Given the description of an element on the screen output the (x, y) to click on. 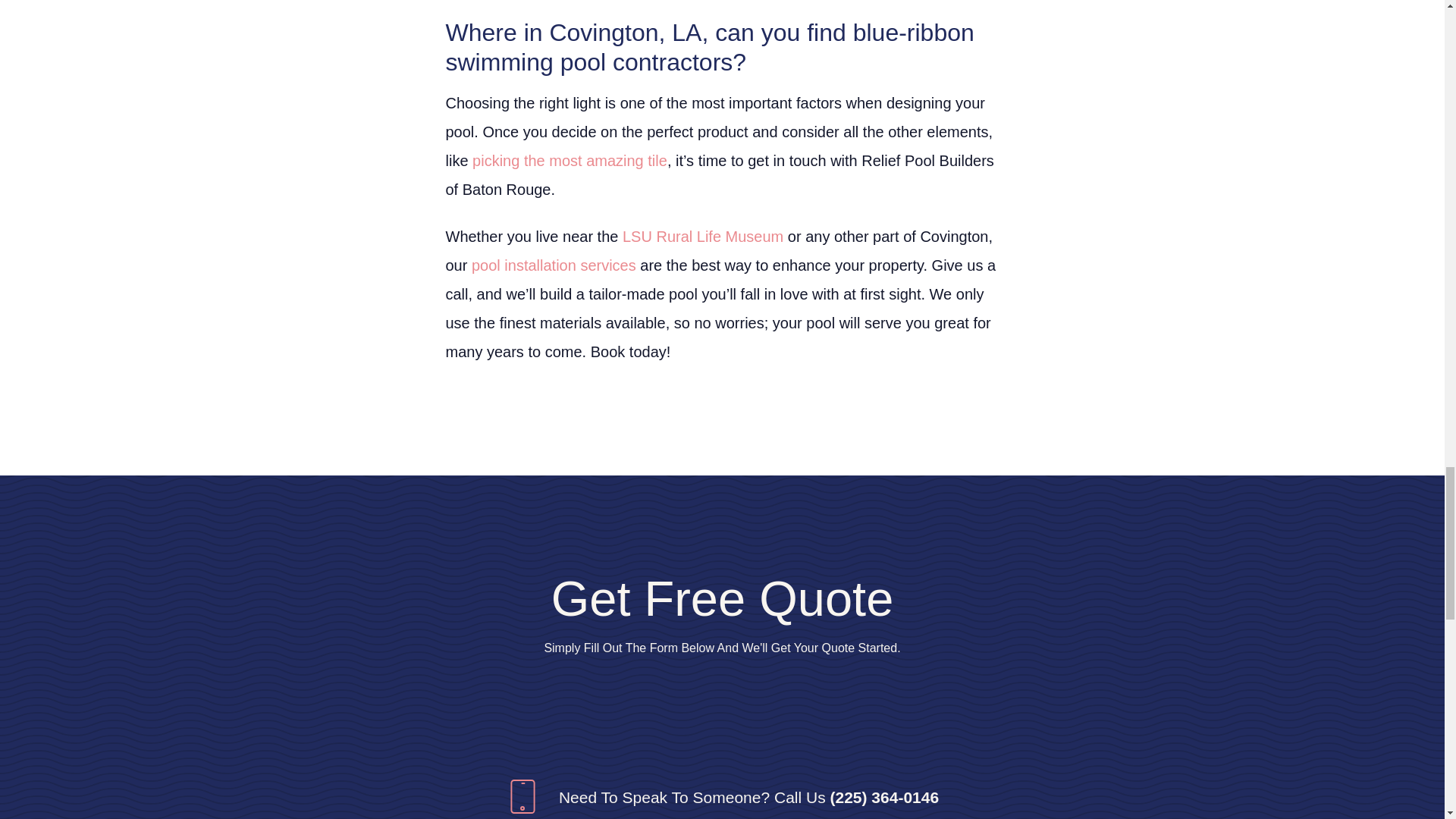
picking the most amazing tile (568, 160)
LSU Rural Life Museum (703, 236)
pool installation services (553, 265)
